Given the description of an element on the screen output the (x, y) to click on. 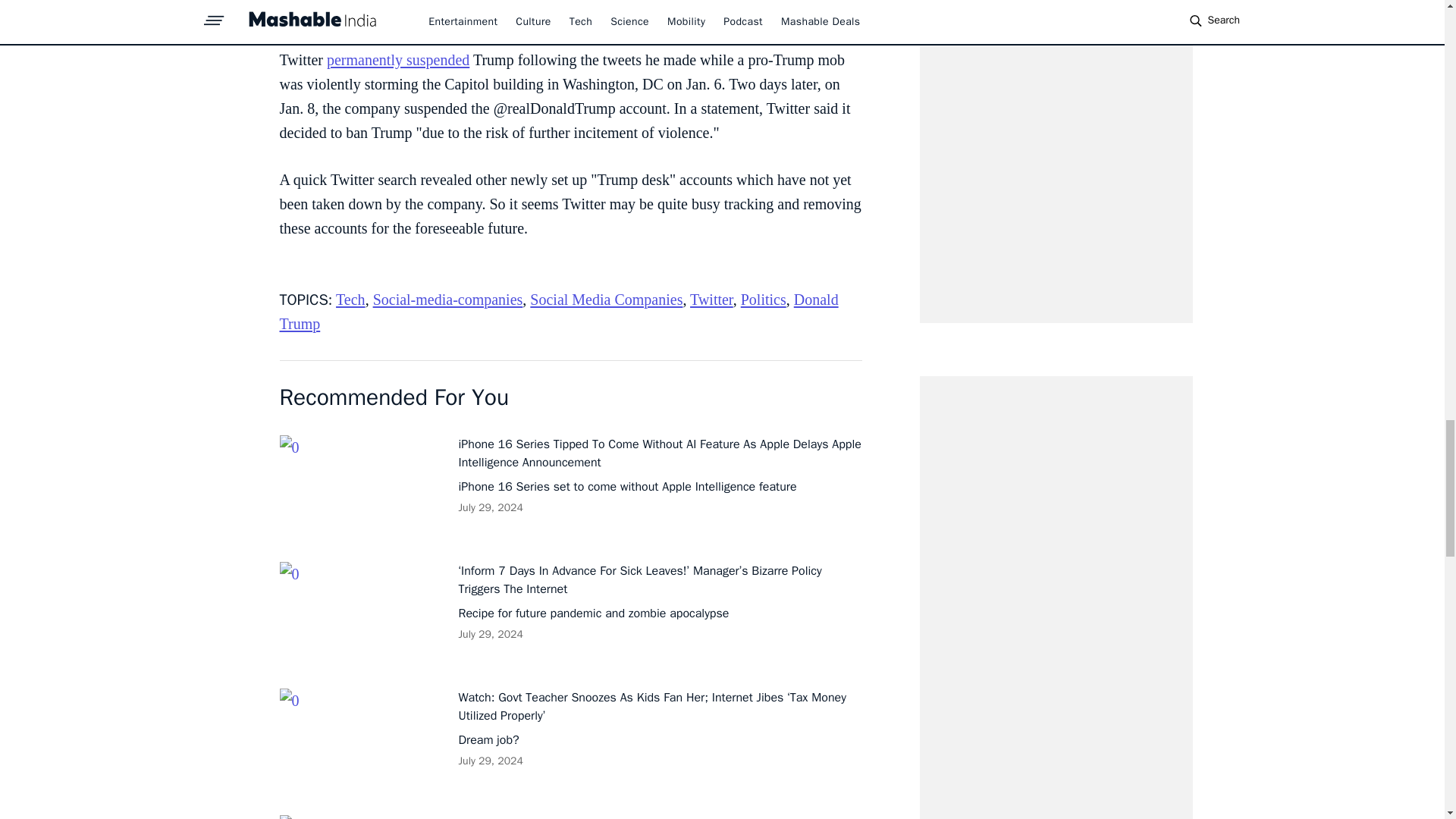
Twitter (711, 299)
Social-media-companies (447, 299)
Social Media Companies (605, 299)
Donald Trump (558, 311)
permanently suspended (397, 59)
Tech (350, 299)
Politics (763, 299)
